Given the description of an element on the screen output the (x, y) to click on. 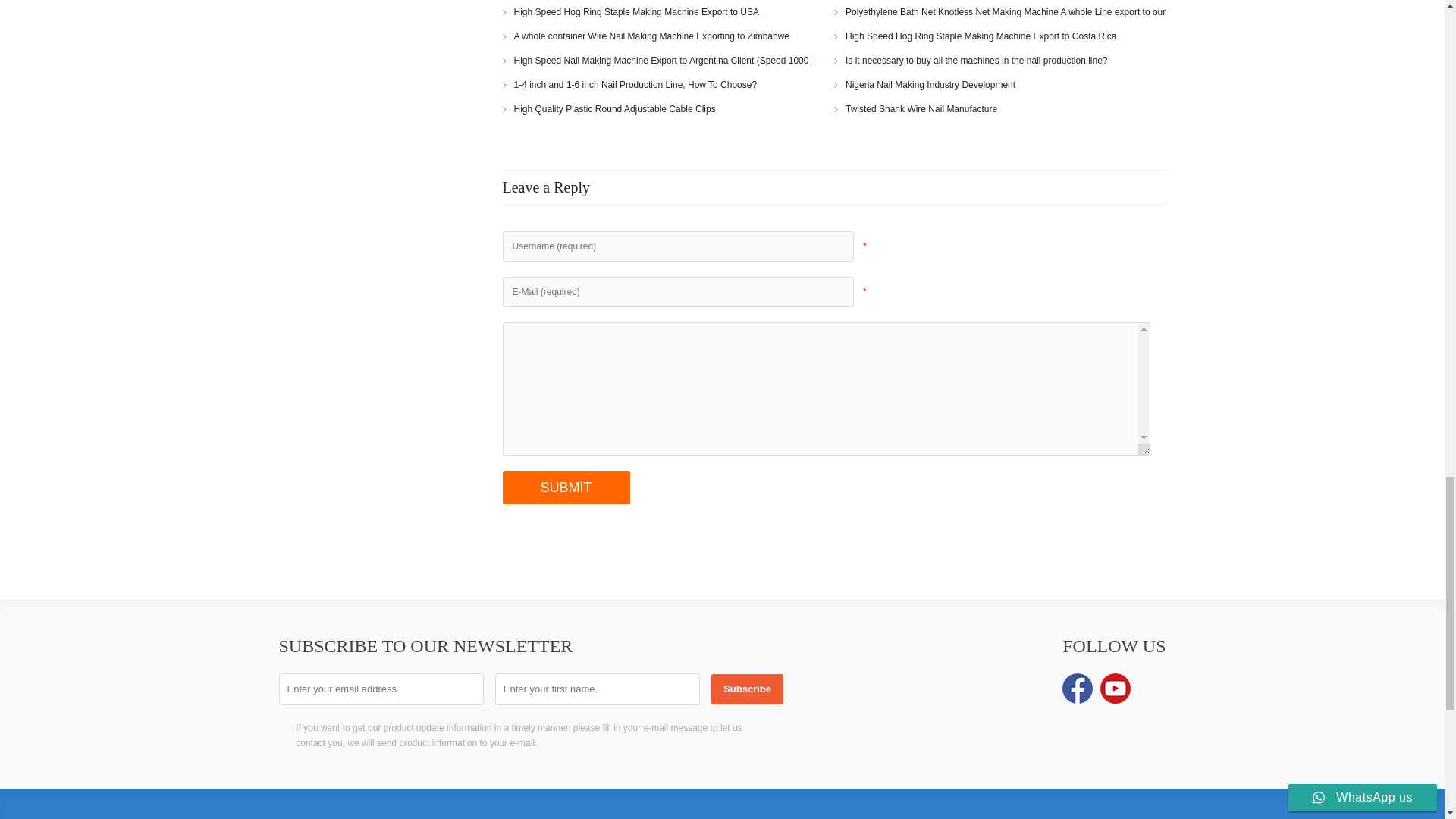
YouTube (1115, 688)
SUBMIT (565, 487)
Post Comment (565, 487)
Facebook (1077, 688)
Subscribe (747, 689)
